Given the description of an element on the screen output the (x, y) to click on. 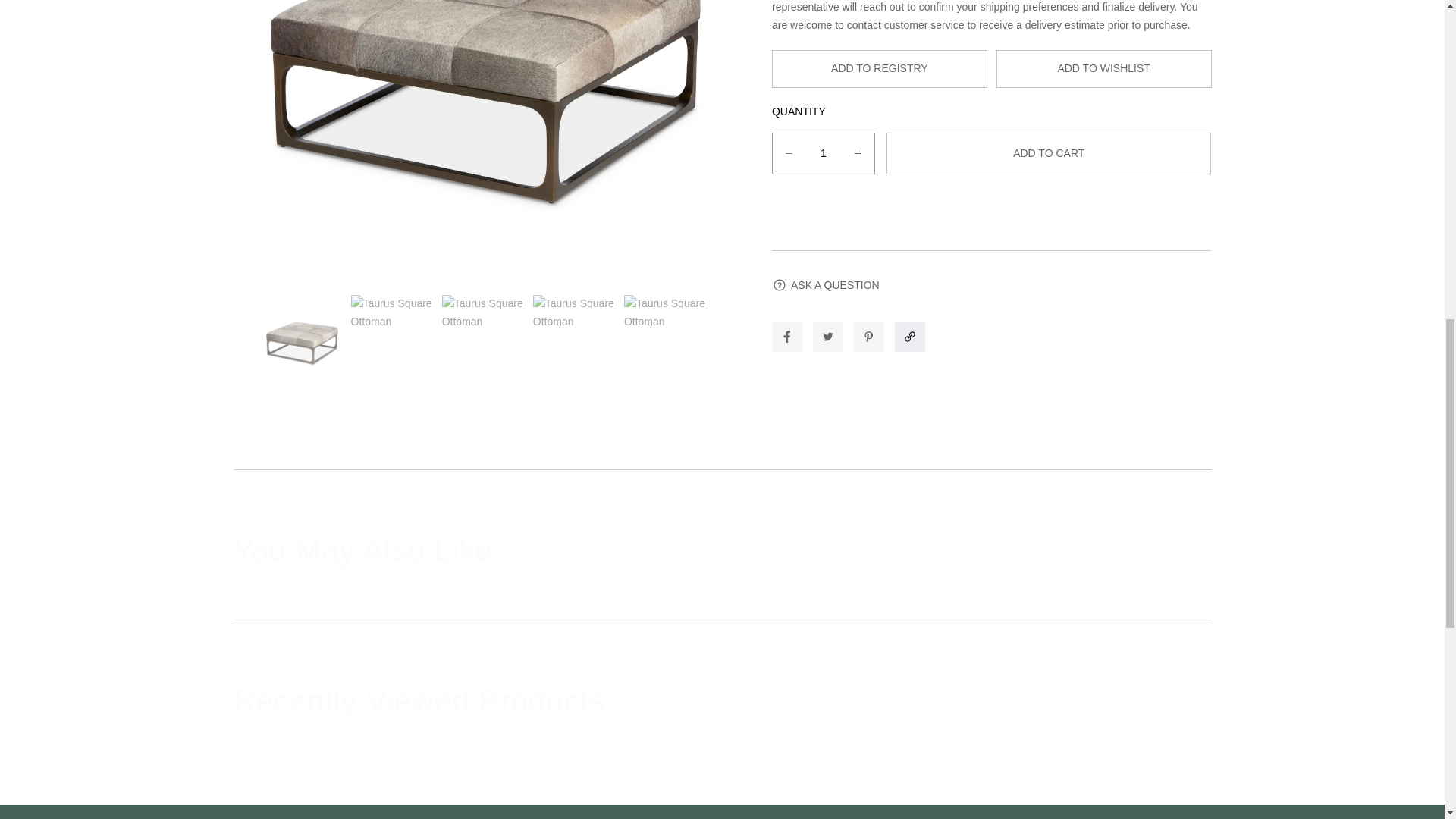
1 (823, 153)
Recently Viewed Products (721, 700)
You May Also Like (721, 550)
